Given the description of an element on the screen output the (x, y) to click on. 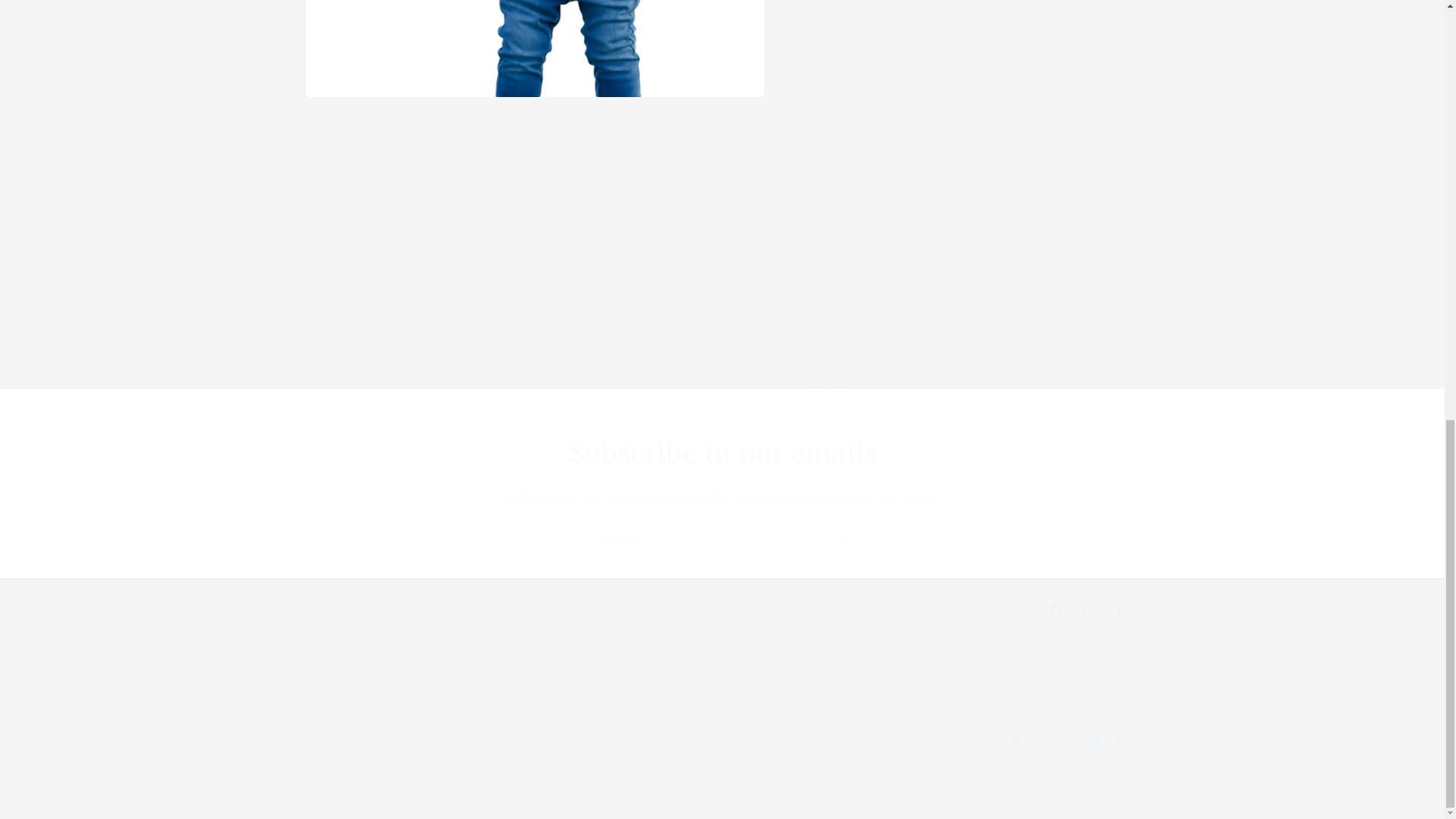
Email (722, 542)
Subscribe to our emails (721, 451)
Open media 2 in modal (721, 611)
